Given the description of an element on the screen output the (x, y) to click on. 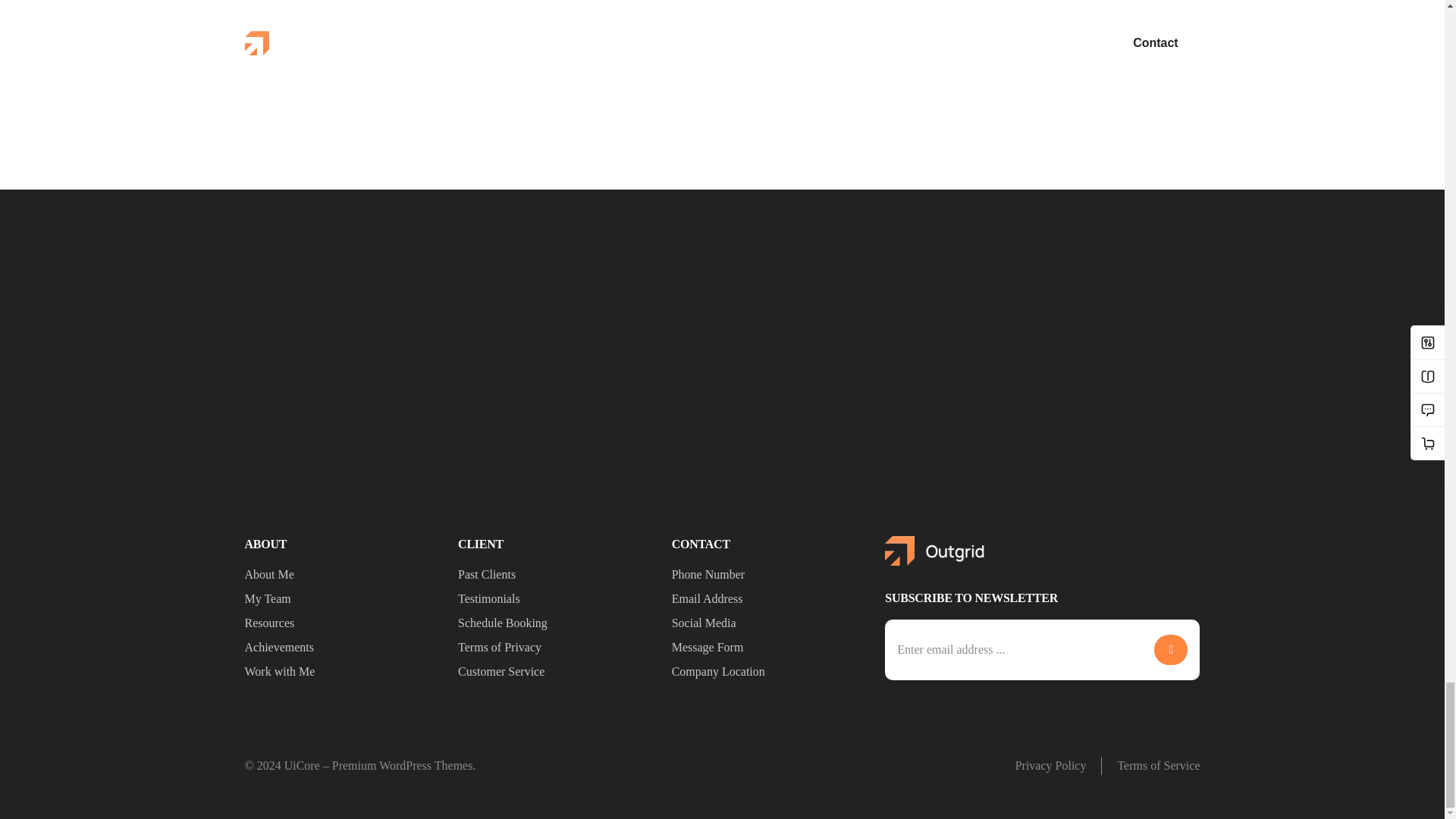
About Me (343, 574)
Email Address (770, 598)
My Team (343, 598)
Work with Me (343, 671)
Resources (343, 623)
Privacy Policy (1050, 765)
Company Location (770, 671)
Message Form (770, 647)
Achievements (343, 647)
Social Media (770, 623)
Past Clients (557, 574)
Terms of Service (1157, 765)
Phone Number (770, 574)
Customer Service (557, 671)
Terms of Privacy (557, 647)
